Given the description of an element on the screen output the (x, y) to click on. 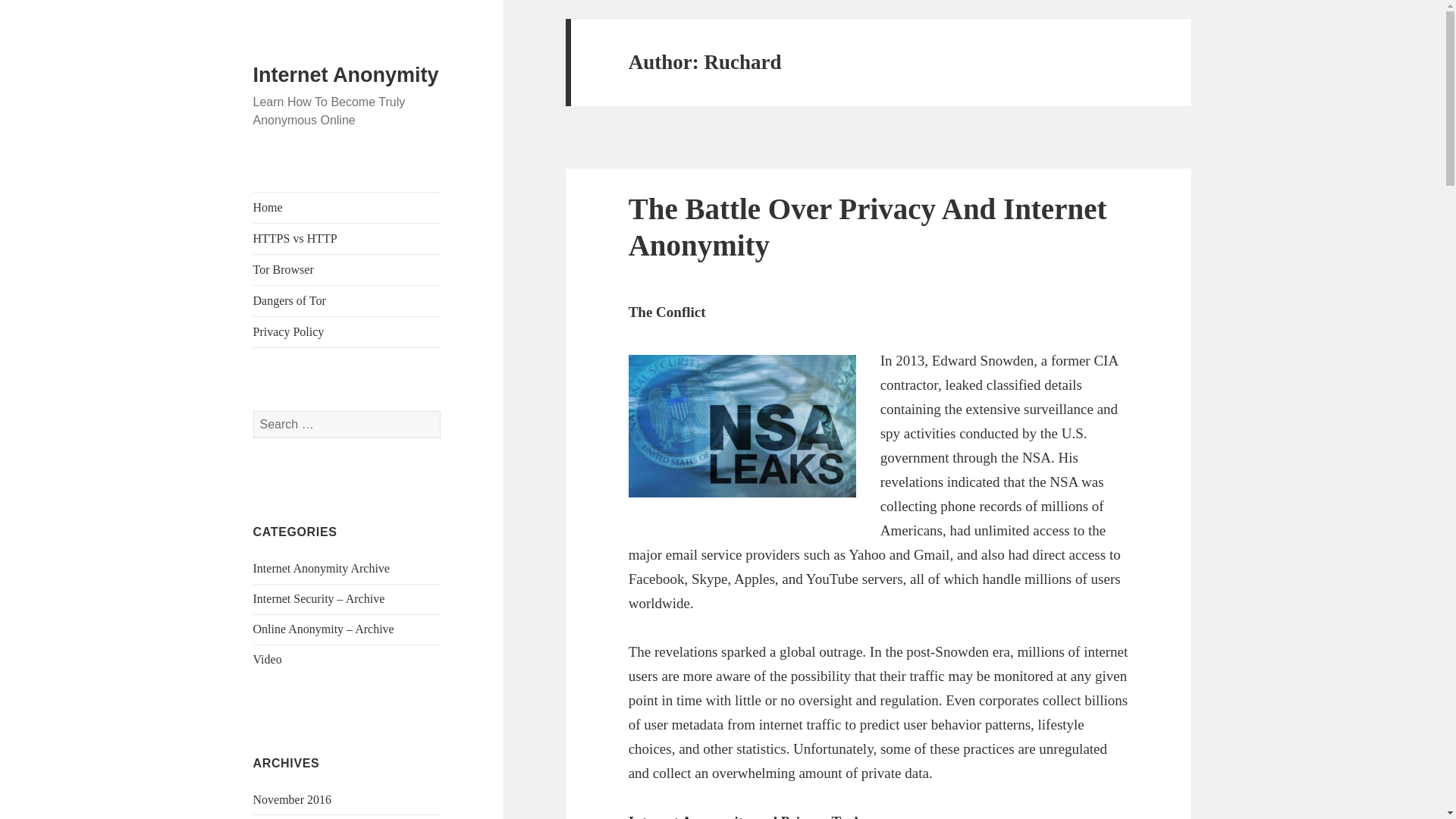
Dangers of Tor (347, 300)
Internet Anonymity (346, 74)
November 2016 (292, 799)
Internet Anonymity Archive (321, 567)
HTTPS vs HTTP (347, 238)
Video (267, 658)
Tor Browser (347, 269)
Privacy Policy (347, 331)
